Given the description of an element on the screen output the (x, y) to click on. 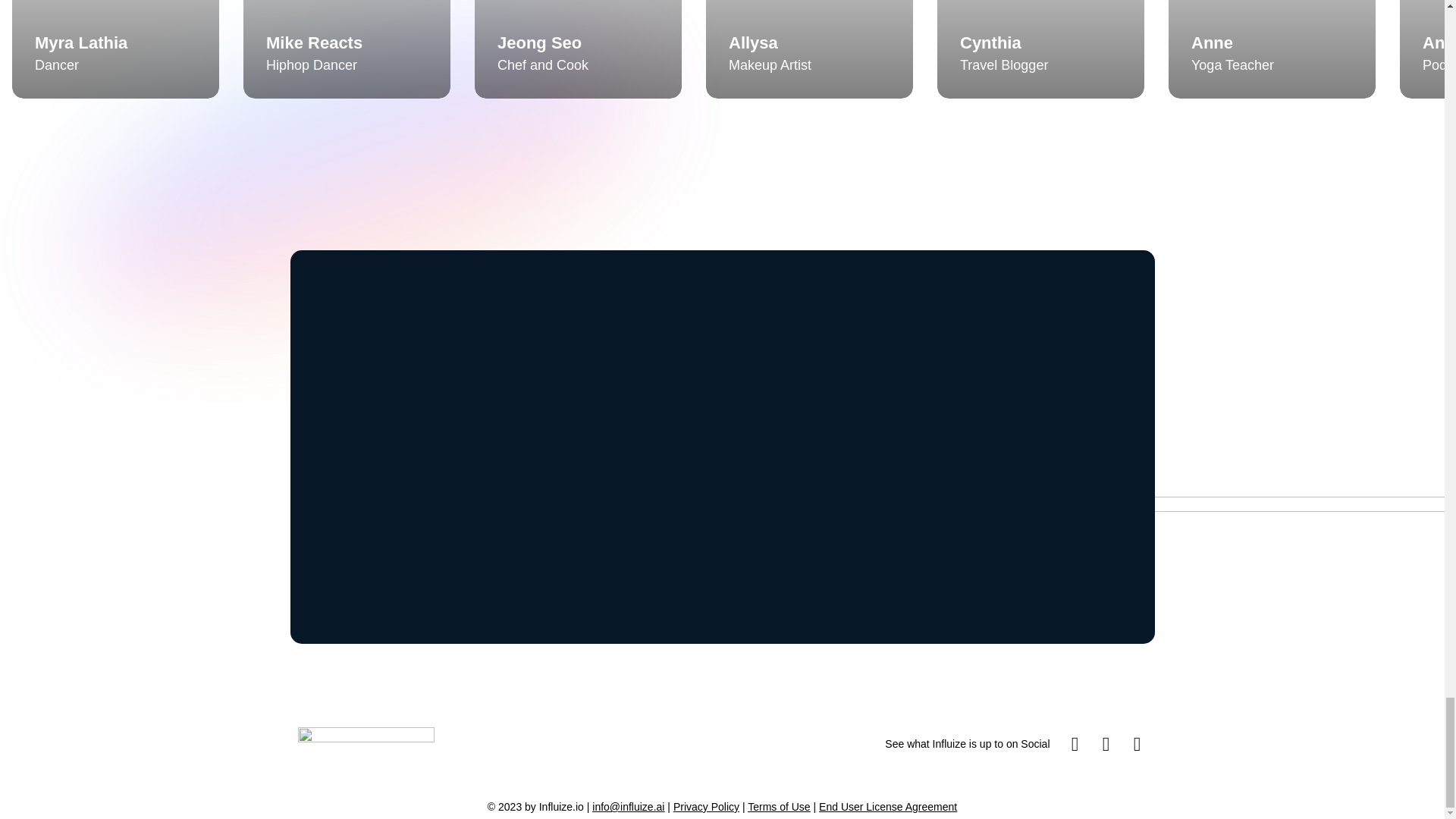
Privacy Policy (705, 806)
End User License Agreement (887, 806)
Terms of Use (778, 806)
